Given the description of an element on the screen output the (x, y) to click on. 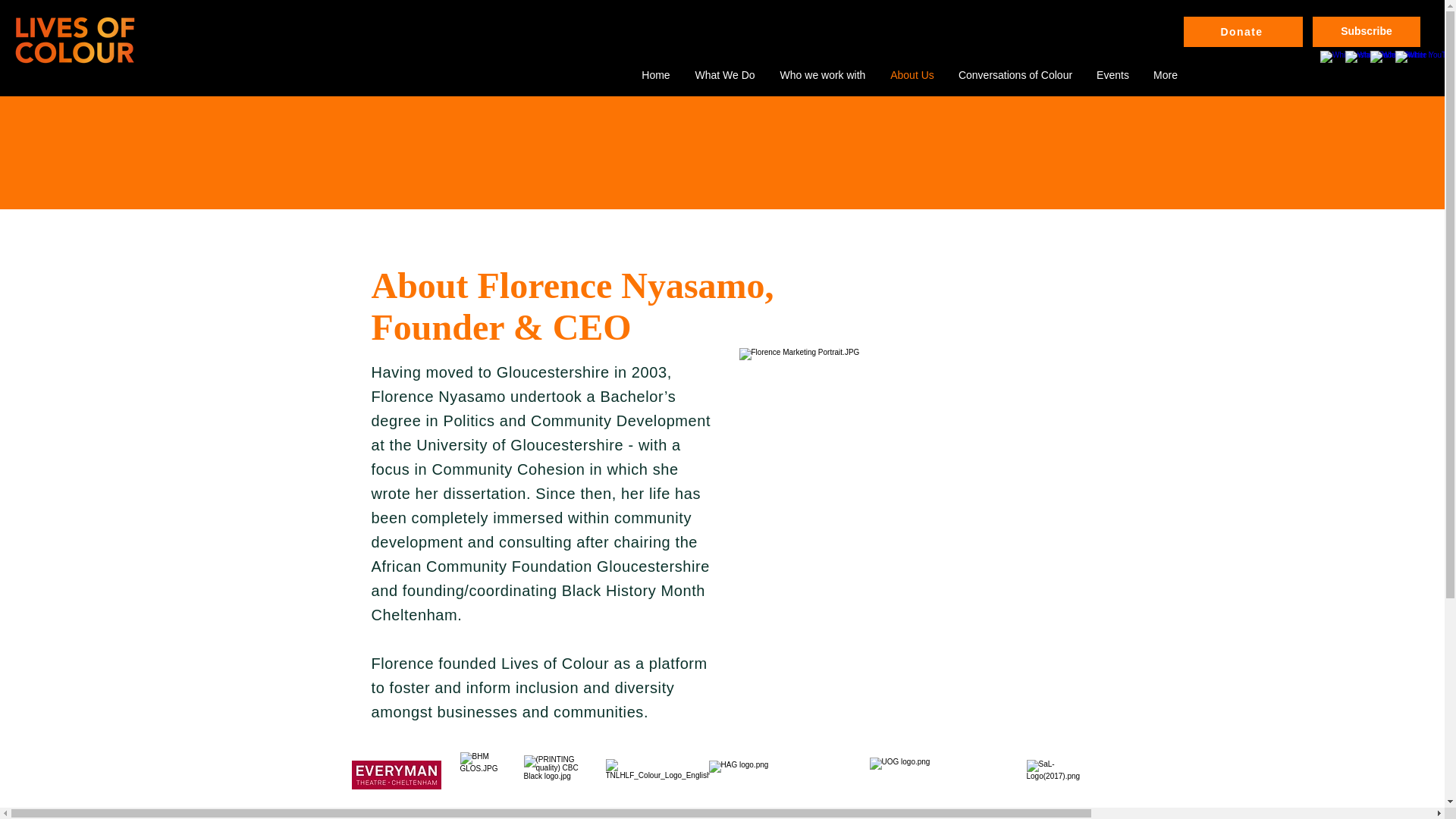
Conversations of Colour (1015, 75)
Donate (1243, 31)
Subscribe (1367, 31)
What We Do (724, 75)
Who we work with (822, 75)
Events (1112, 75)
About Us (911, 75)
Home (655, 75)
